Given the description of an element on the screen output the (x, y) to click on. 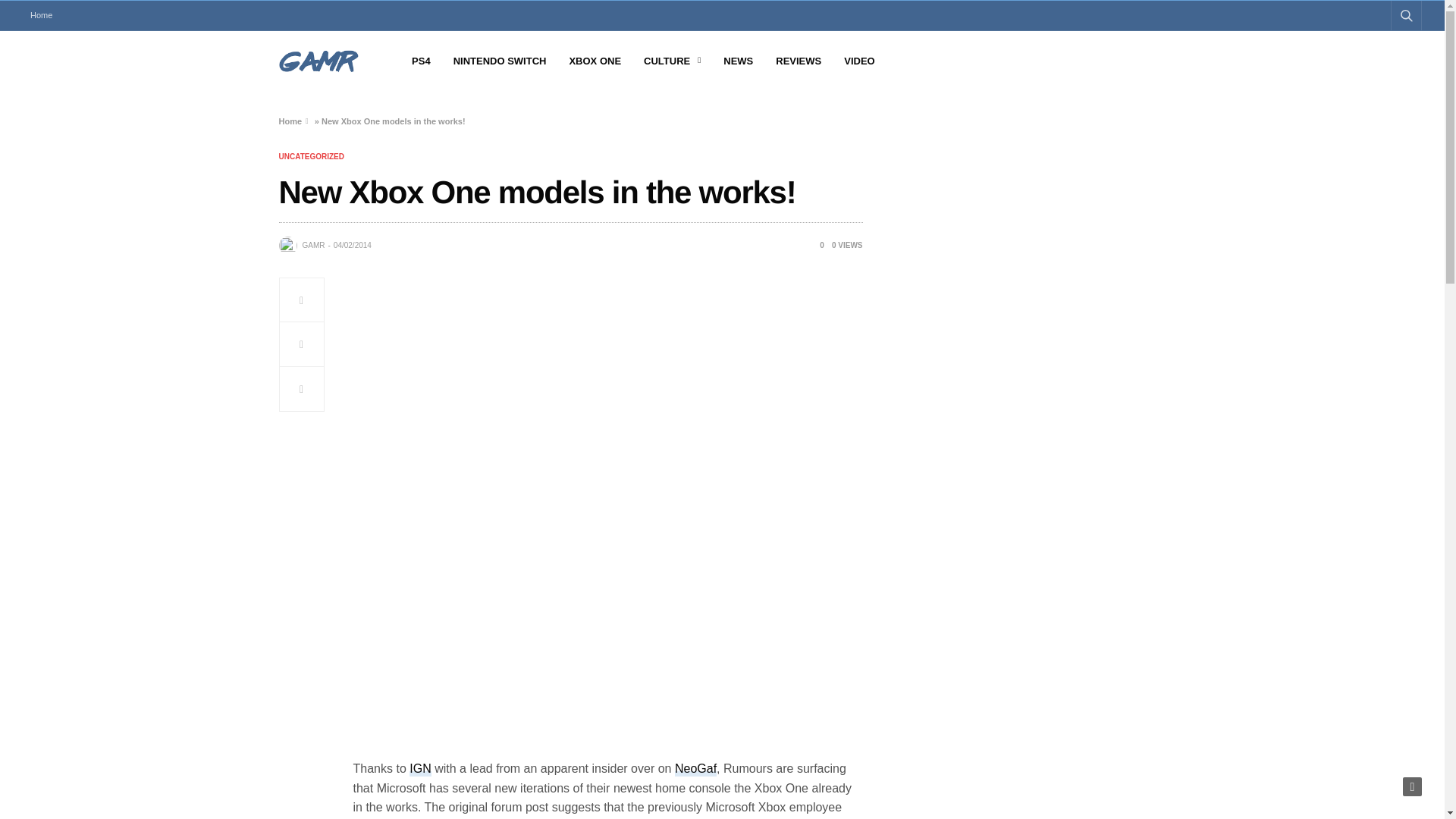
VIDEO (859, 61)
0 (816, 244)
NINTENDO SWITCH (499, 61)
REVIEWS (798, 61)
NeoGaf (695, 769)
CULTURE (671, 61)
Uncategorized (311, 156)
New Xbox One models in the works! (816, 244)
Home (290, 121)
XBOX ONE (595, 61)
